Given the description of an element on the screen output the (x, y) to click on. 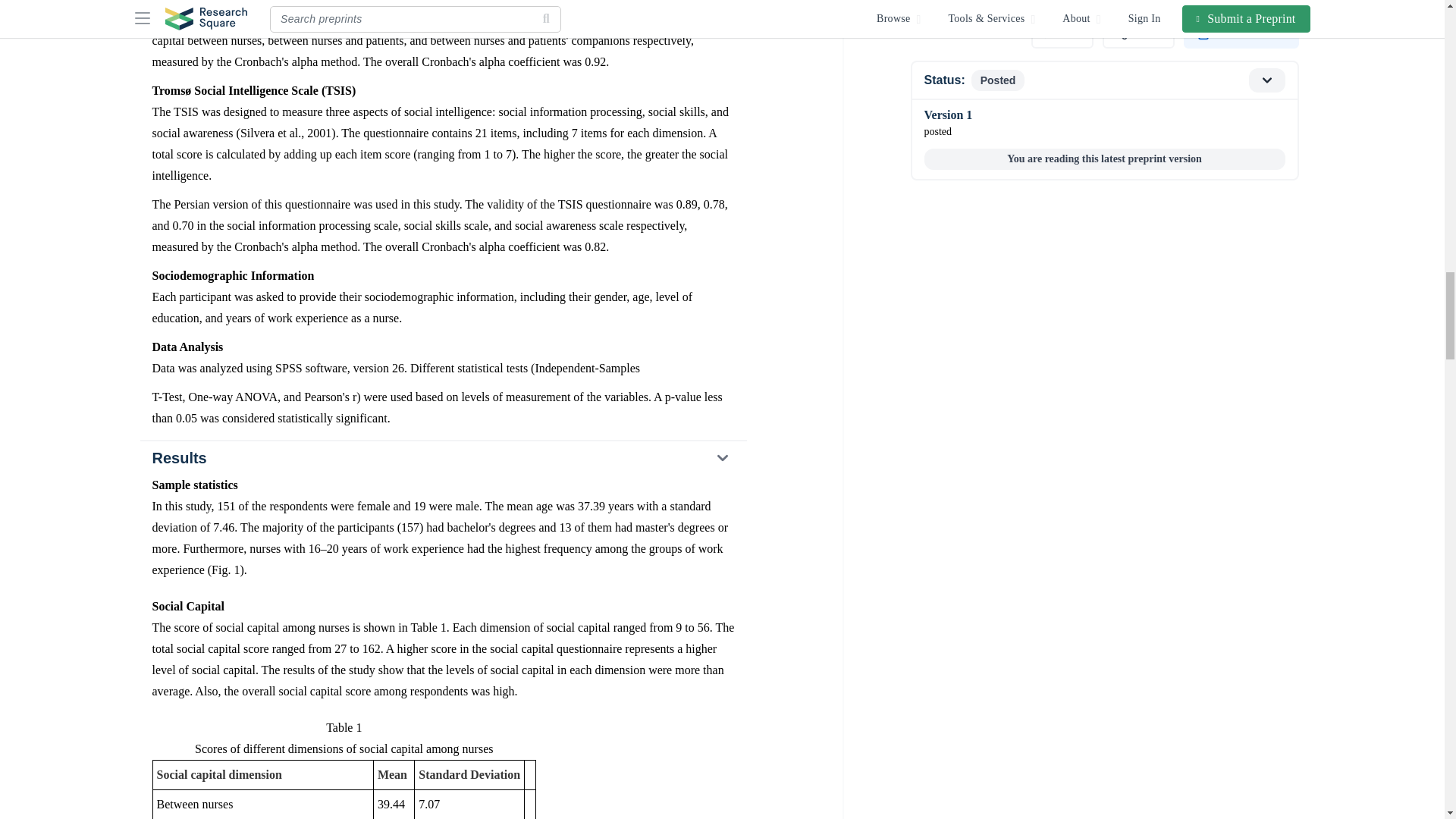
Results (442, 458)
